Given the description of an element on the screen output the (x, y) to click on. 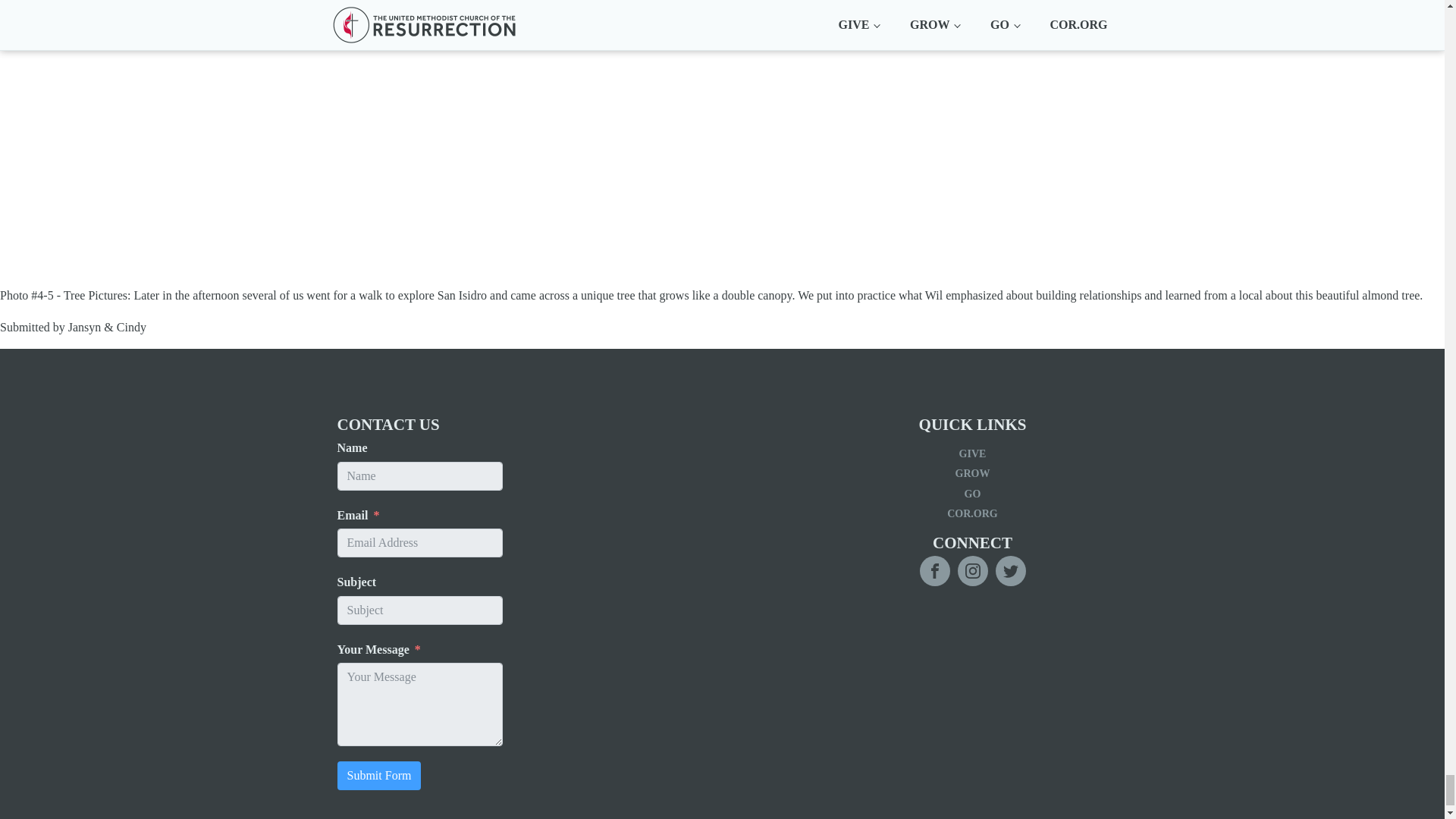
GROW (971, 474)
GO (971, 494)
GIVE (971, 454)
COR.ORG (971, 514)
Submit Form (378, 775)
